Given the description of an element on the screen output the (x, y) to click on. 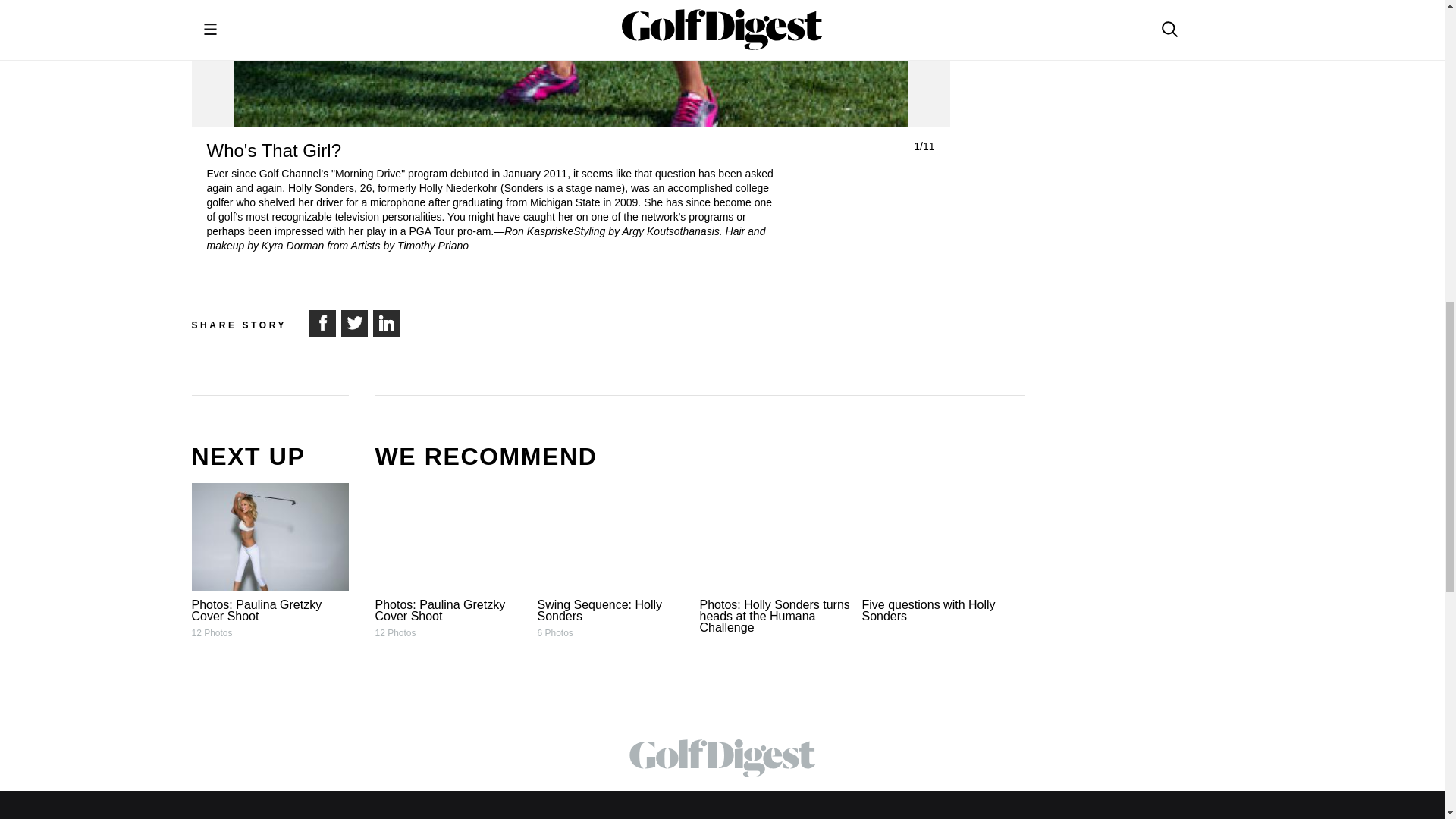
Share on LinkedIn (384, 322)
Photos: Paulina Gretzky Cover Shoot (452, 537)
Share on Twitter (352, 322)
Share on Facebook (320, 322)
Photos: Paulina Gretzky Cover Shoot (268, 537)
Swing Sequence: Holly Sonders (615, 537)
